Given the description of an element on the screen output the (x, y) to click on. 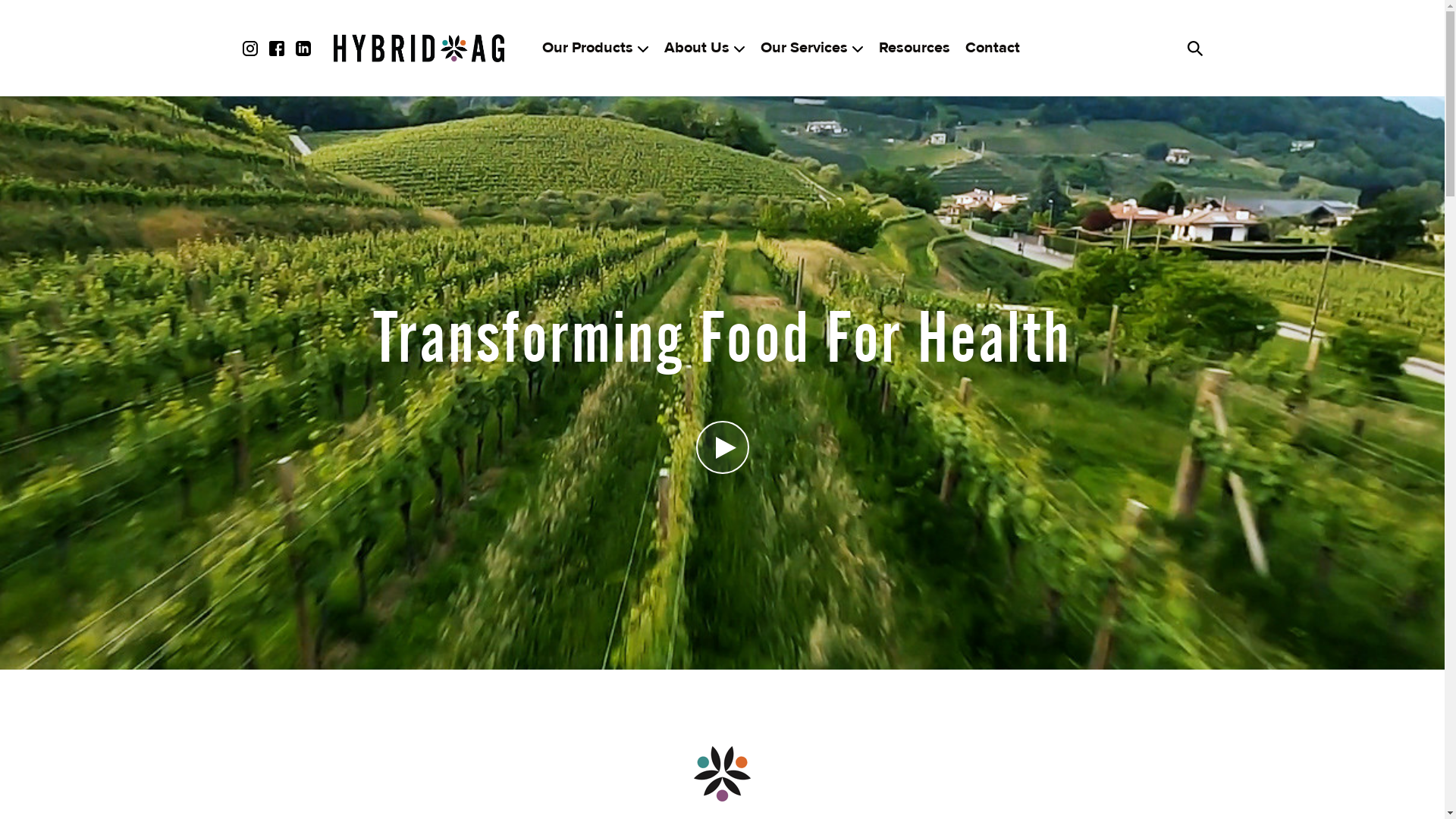
Contact Element type: text (991, 48)
About Us Element type: text (704, 48)
Our Products Element type: text (594, 48)
Resources Element type: text (913, 48)
Our Services Element type: text (810, 48)
